Given the description of an element on the screen output the (x, y) to click on. 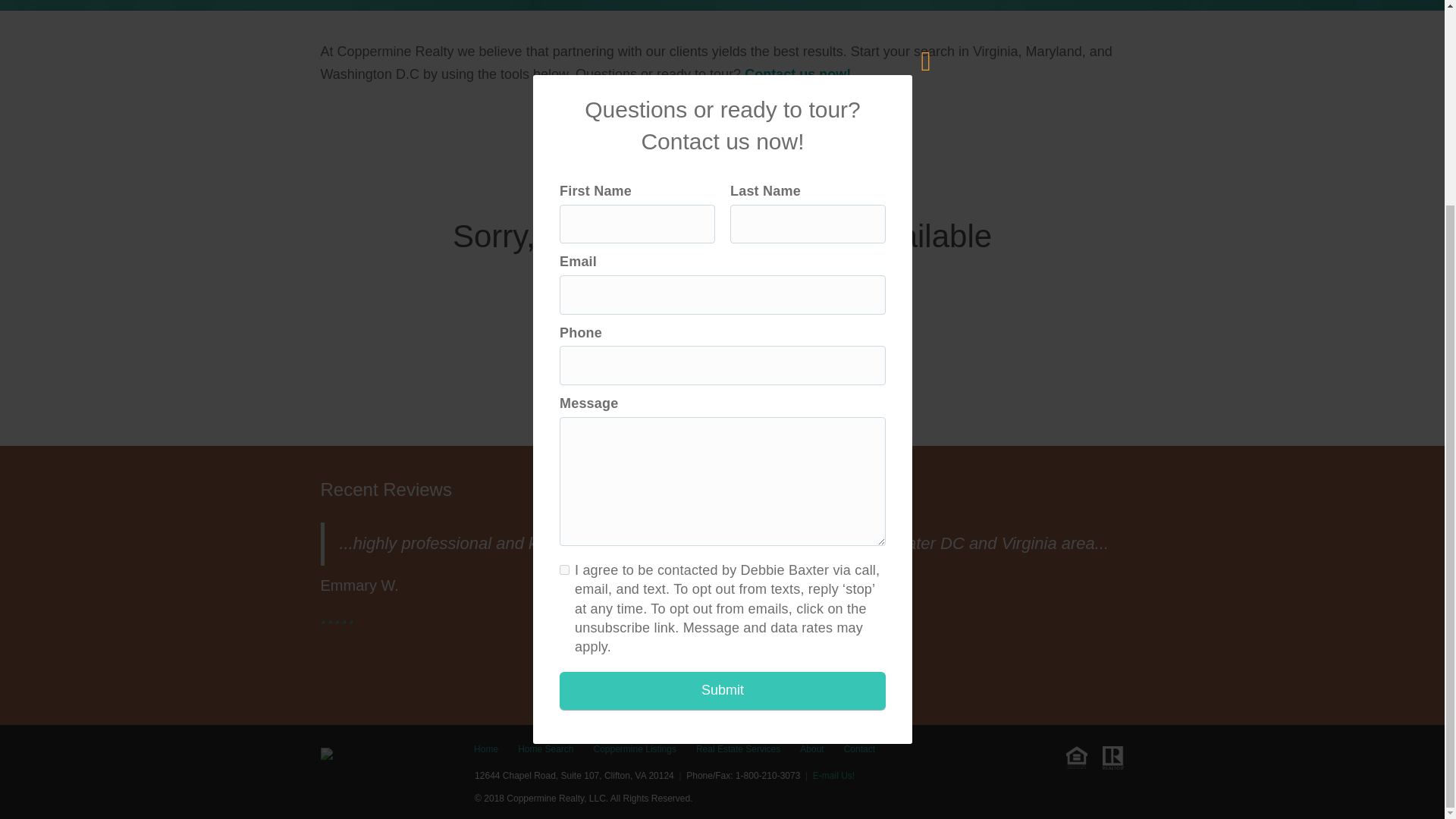
Contact us now! (797, 73)
2 (707, 682)
1 (691, 682)
Coppermine Listings (633, 749)
E-mail Us! (833, 775)
About (811, 749)
4 (737, 682)
3 (722, 682)
5 (753, 682)
on (564, 306)
Home Search (545, 749)
Home (485, 749)
Real Estate Services (738, 749)
Start A New Search (721, 348)
Contact (859, 749)
